Given the description of an element on the screen output the (x, y) to click on. 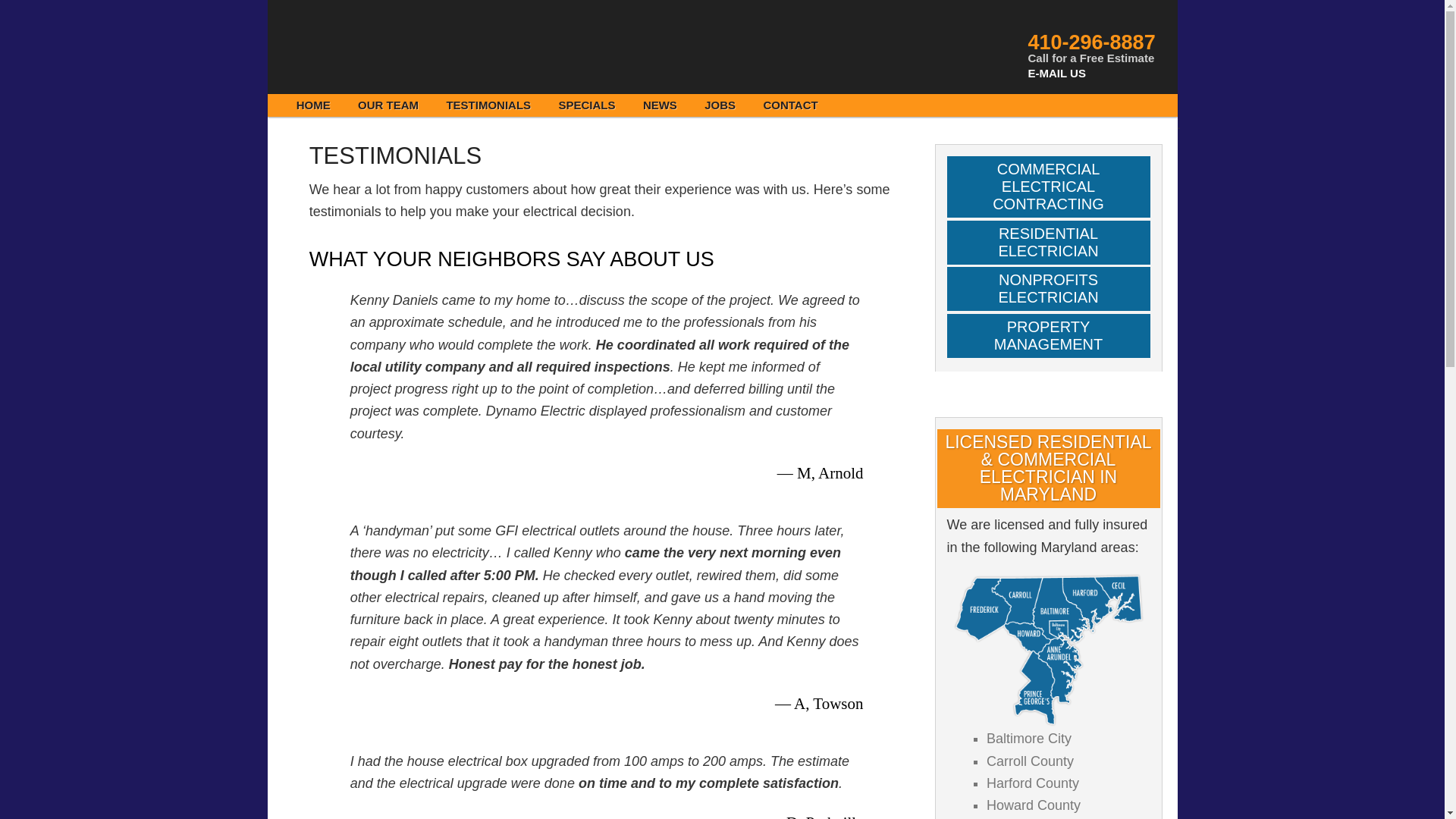
OUR TEAM (387, 105)
E-MAIL US (1056, 72)
TESTIMONIALS (488, 105)
Dynamo Electric (410, 45)
RESIDENTIAL ELECTRICIAN (1048, 242)
SPECIALS (586, 105)
PROPERTY MANAGEMENT (1048, 335)
NONPROFITS ELECTRICIAN (1048, 288)
Dynamo Electric (410, 45)
NEWS (659, 105)
